Given the description of an element on the screen output the (x, y) to click on. 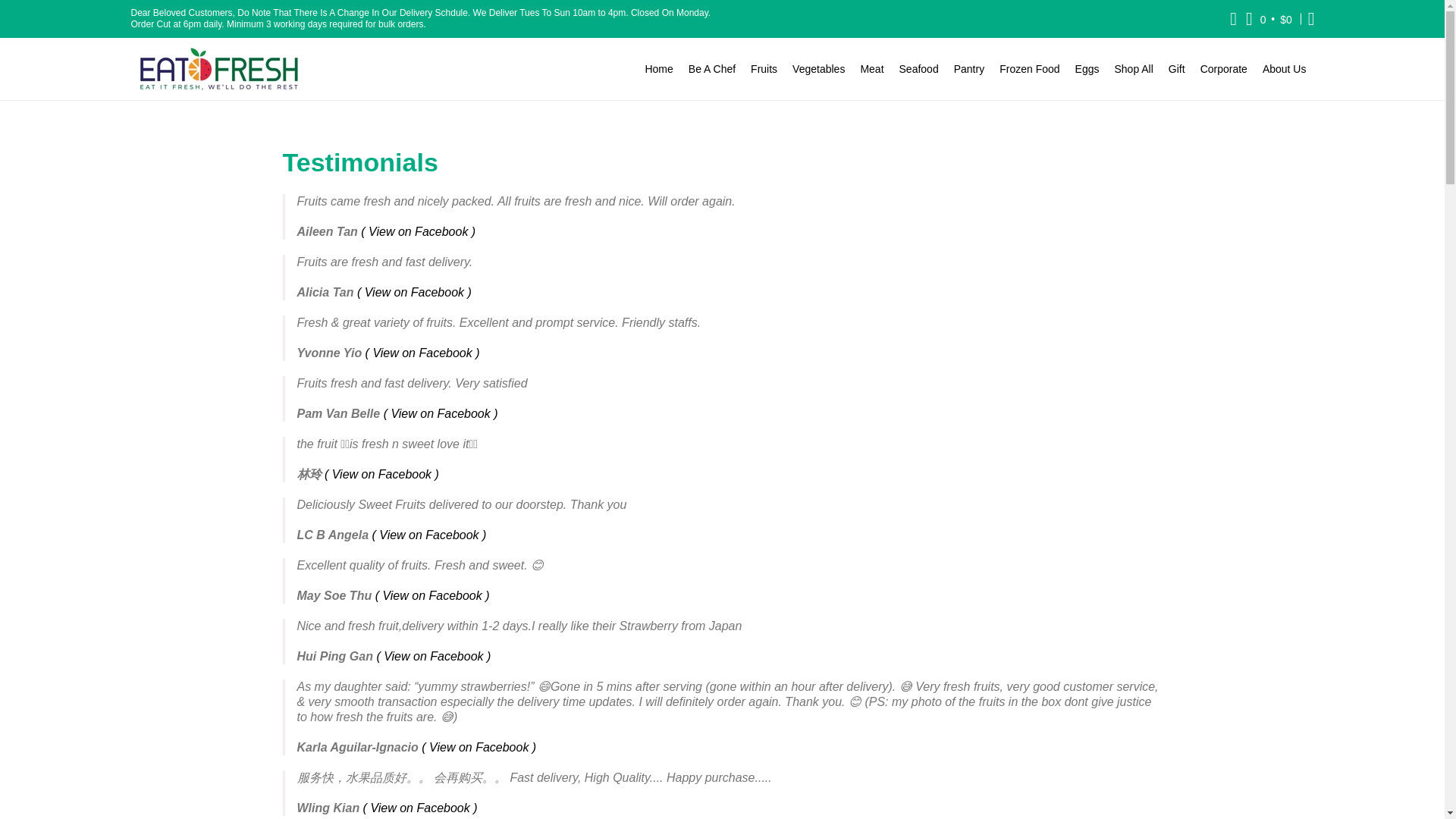
Cart (1269, 18)
Vegetables (817, 68)
Eat Fresh SG (217, 68)
Be A Chef (711, 68)
Frozen Food (1029, 68)
Vegetables (817, 68)
Be A Chef (711, 68)
